Given the description of an element on the screen output the (x, y) to click on. 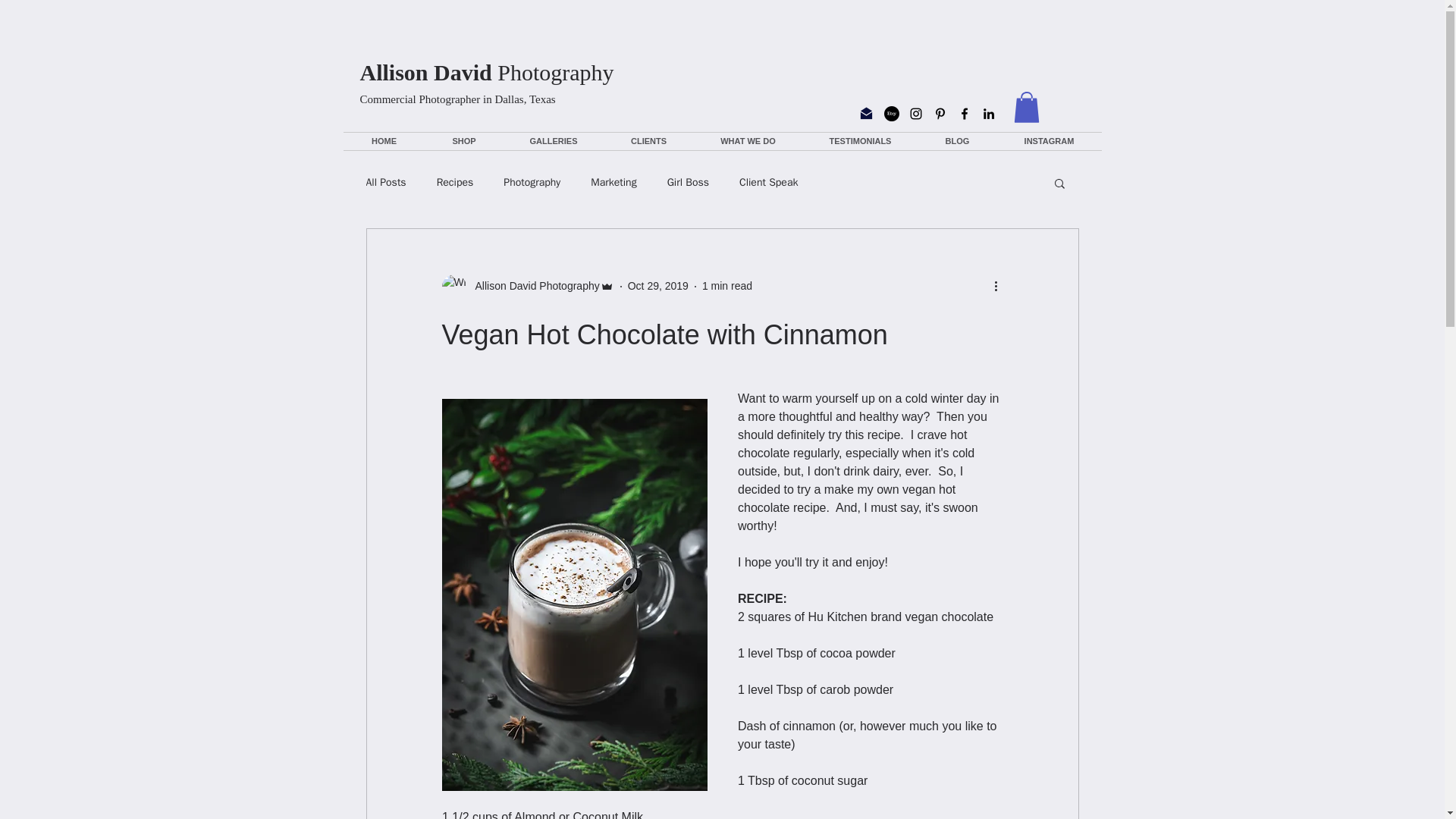
Girl Boss (687, 182)
CLIENTS (648, 140)
Client Speak (768, 182)
Photography (531, 182)
1 min read (726, 285)
SHOP (463, 140)
INSTAGRAM (1047, 140)
Marketing (613, 182)
Allison David Photography (526, 286)
HOME (383, 140)
All Posts (385, 182)
TESTIMONIALS (859, 140)
Oct 29, 2019 (657, 285)
BLOG (956, 140)
Recipes (455, 182)
